Given the description of an element on the screen output the (x, y) to click on. 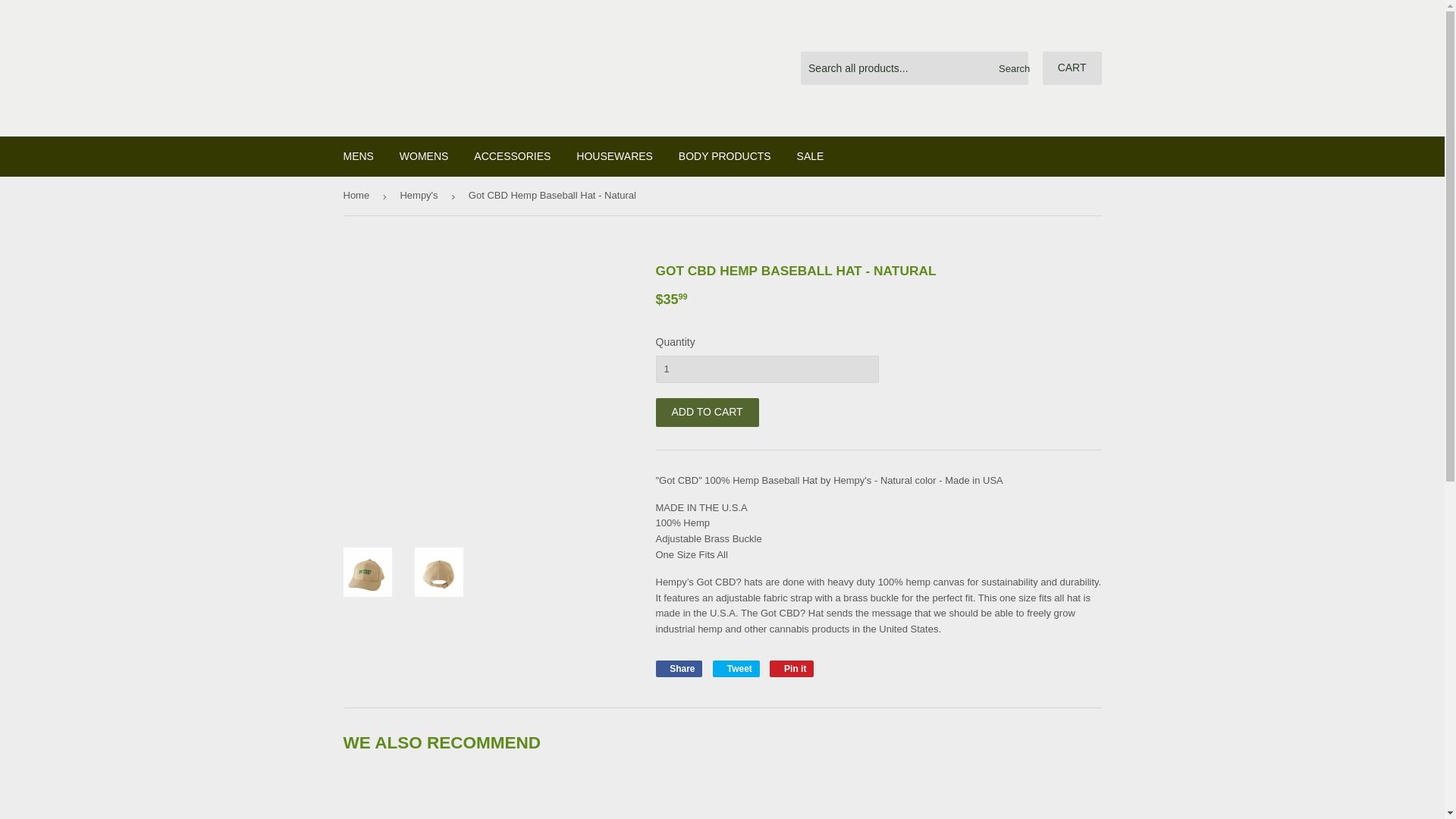
Tweet on Twitter (736, 668)
CART (791, 668)
ACCESSORIES (1072, 68)
WOMENS (512, 156)
Search (424, 156)
ADD TO CART (1010, 69)
Hempy's (706, 412)
SALE (736, 668)
